Given the description of an element on the screen output the (x, y) to click on. 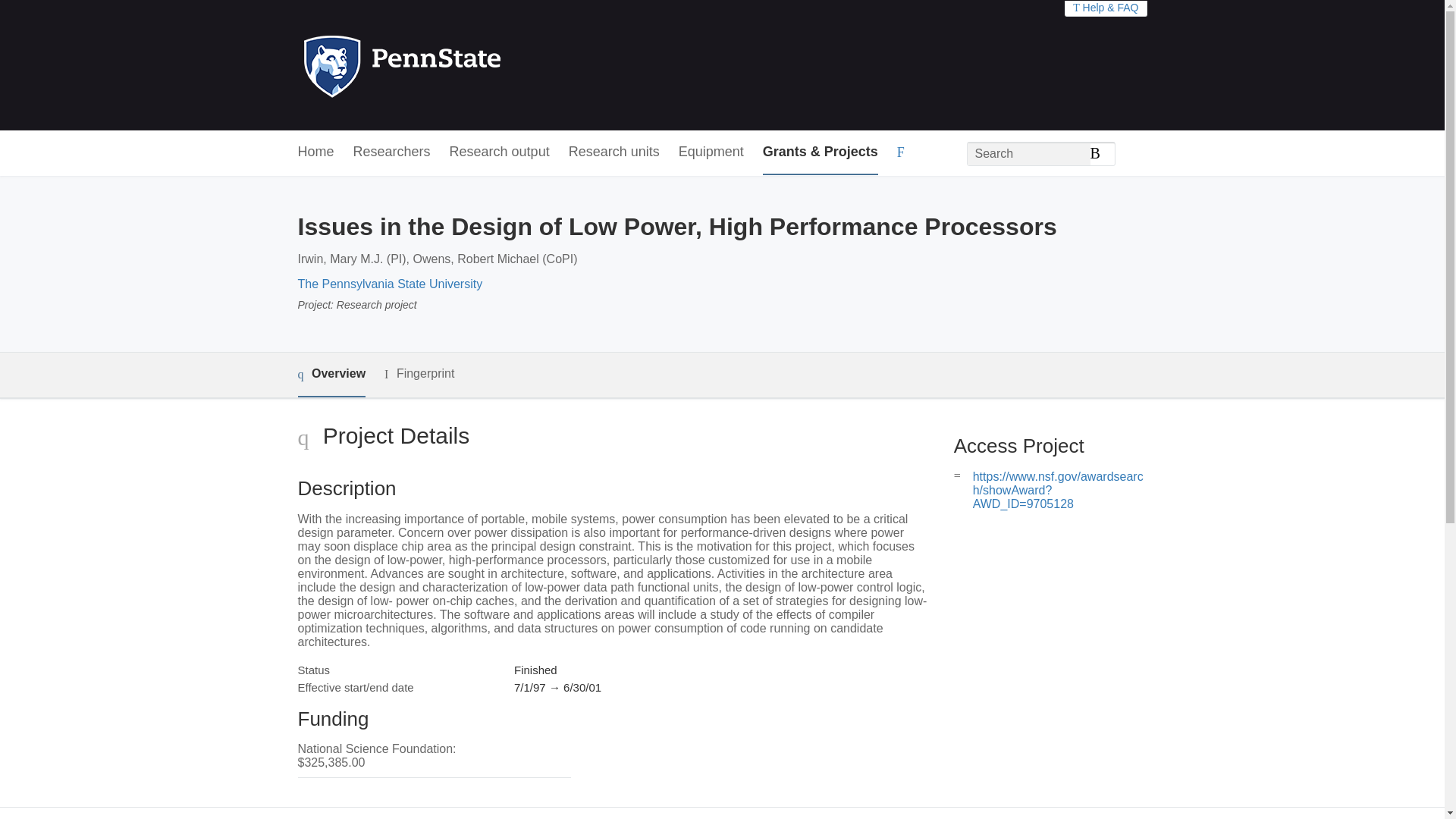
Equipment (711, 152)
Overview (331, 374)
The Pennsylvania State University (389, 283)
Research output (499, 152)
Researchers (391, 152)
Penn State Home (467, 65)
Fingerprint (419, 373)
Research units (614, 152)
